Given the description of an element on the screen output the (x, y) to click on. 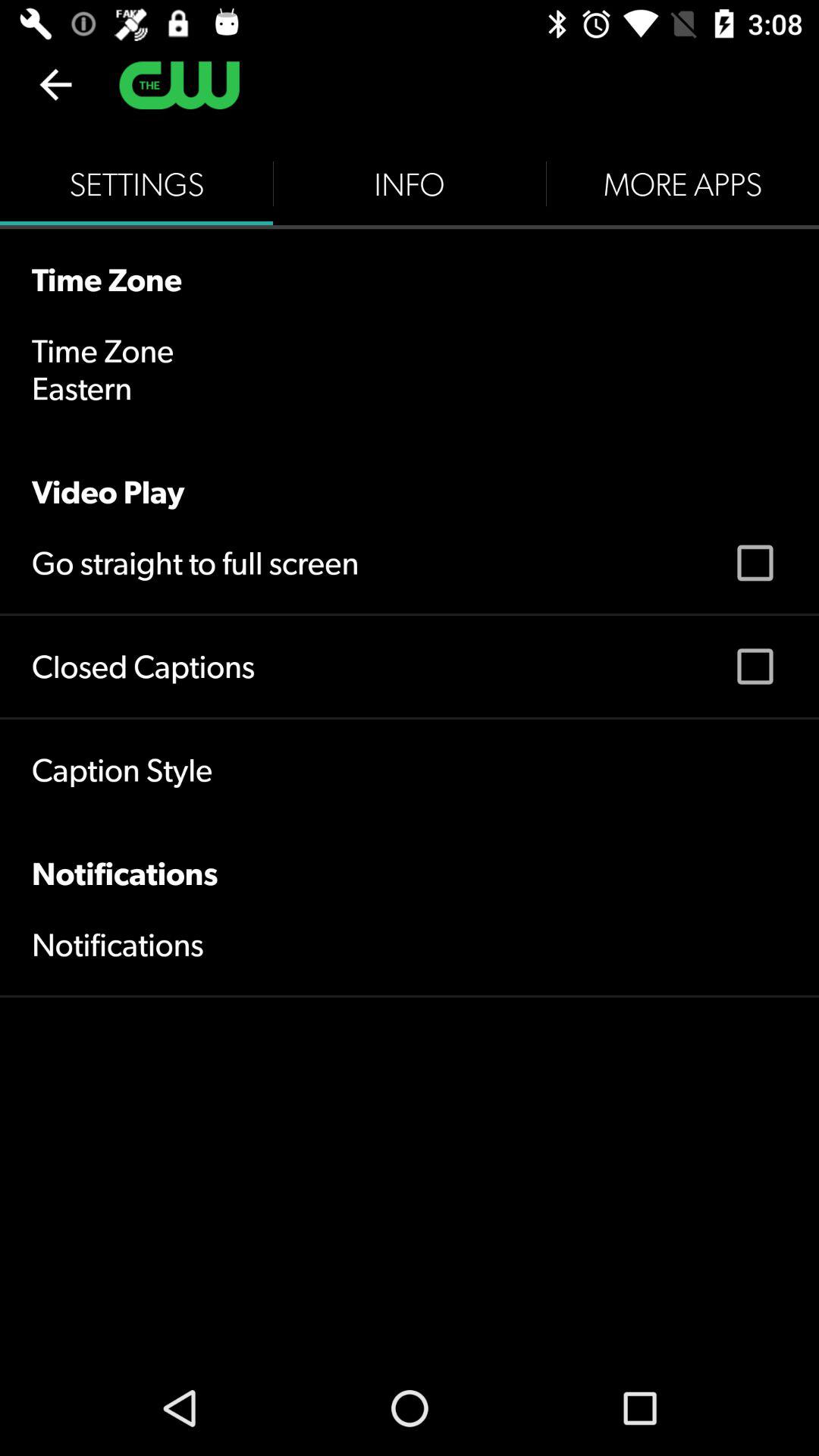
flip until go straight to (194, 562)
